Given the description of an element on the screen output the (x, y) to click on. 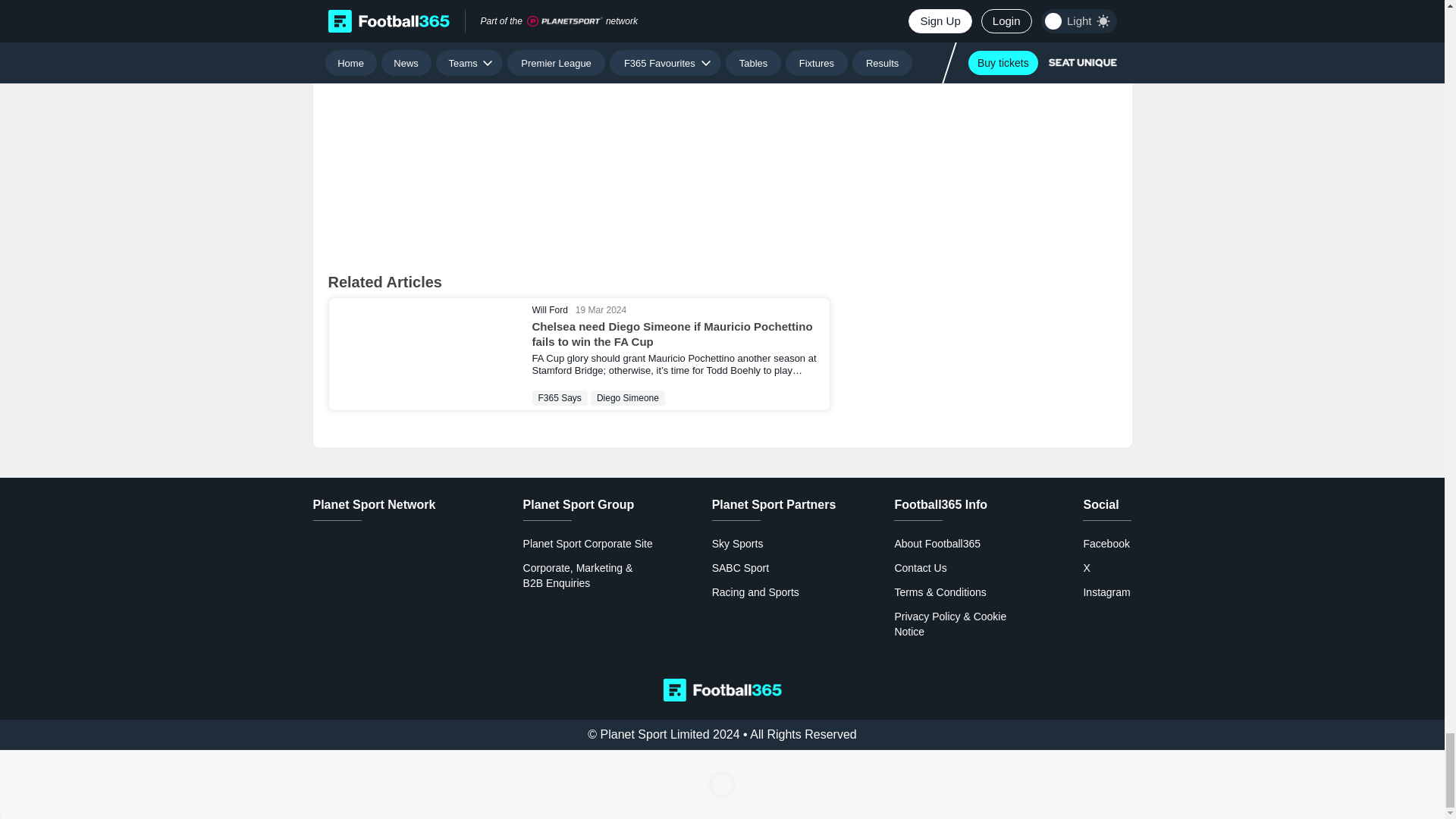
Vuukle Comments Widget (578, 134)
